Given the description of an element on the screen output the (x, y) to click on. 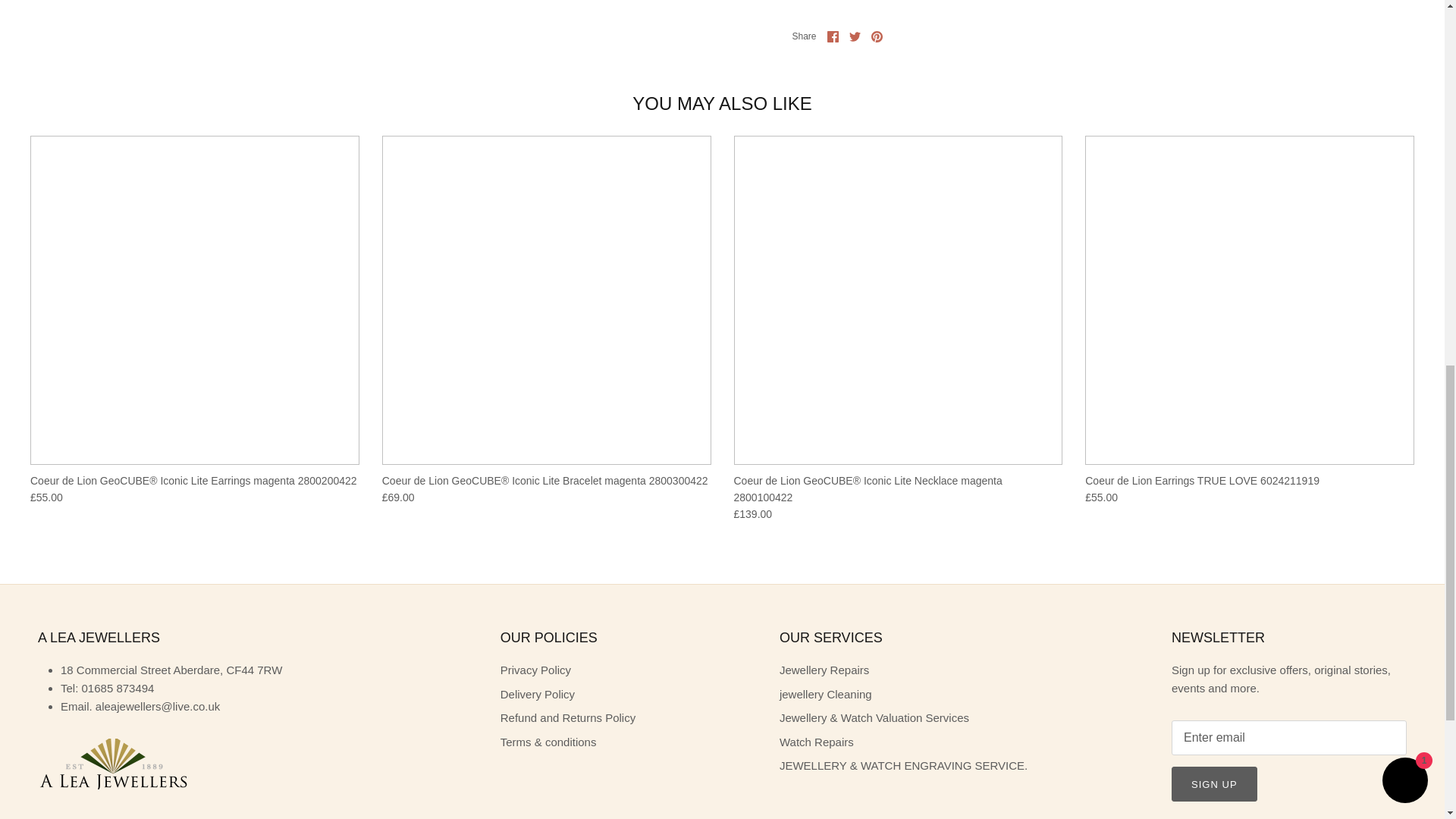
Pinterest (876, 36)
Facebook (832, 36)
Twitter (854, 36)
